Given the description of an element on the screen output the (x, y) to click on. 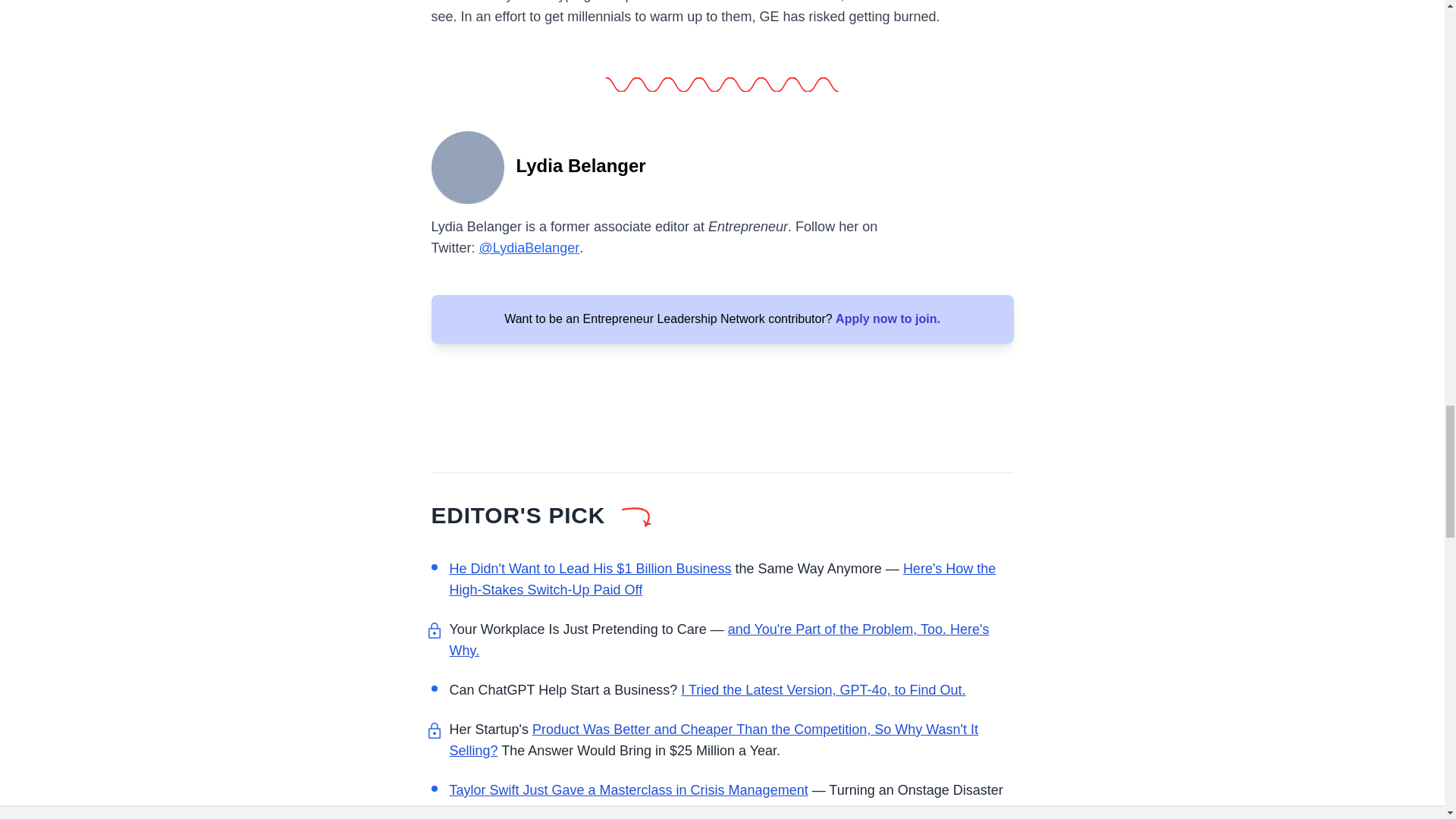
Lydia Belanger (466, 165)
